Given the description of an element on the screen output the (x, y) to click on. 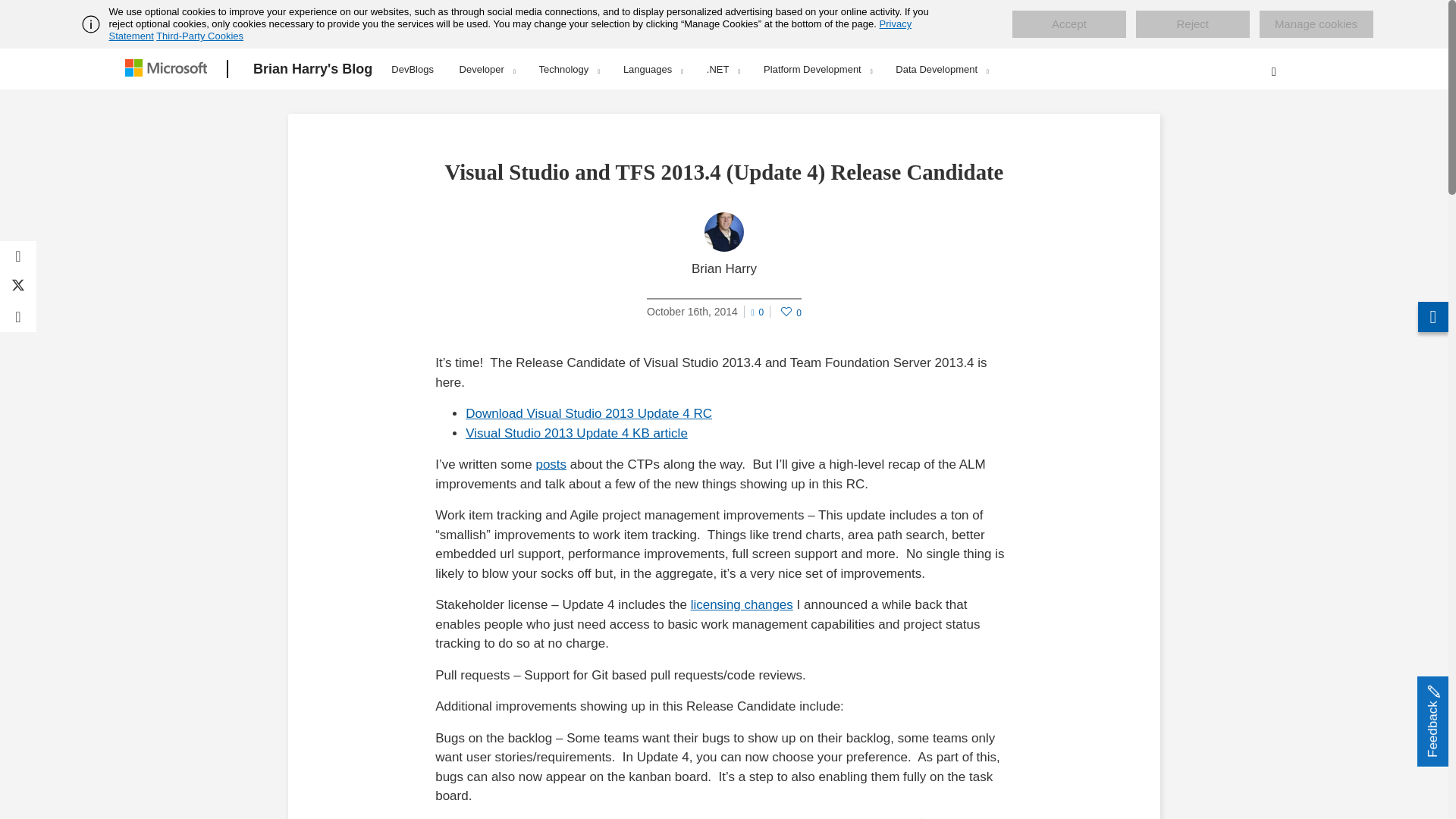
Technology (568, 69)
DevBlogs (412, 67)
Manage cookies (1316, 23)
Developer (486, 69)
Share on Facebook (18, 255)
Third-Party Cookies (199, 35)
Accept (1068, 23)
Share on Twitter (18, 286)
Reject (1192, 23)
Share on LinkedIn (18, 317)
